Given the description of an element on the screen output the (x, y) to click on. 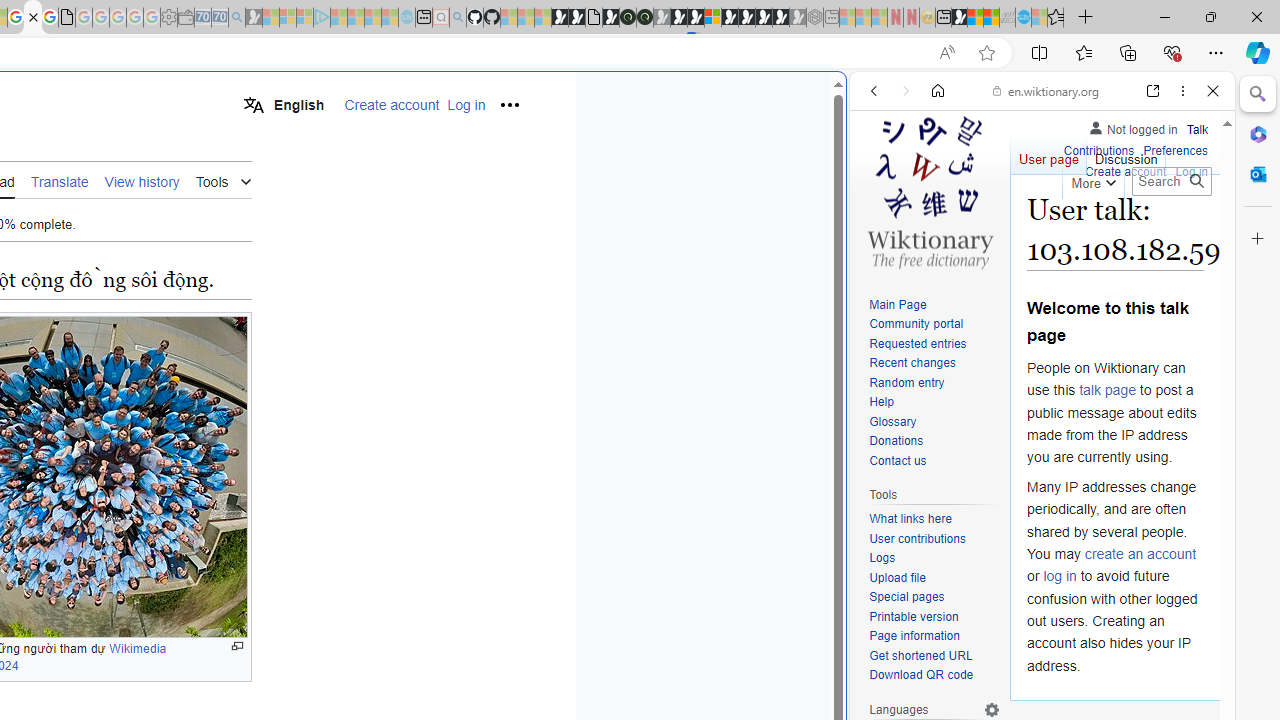
Translate (59, 180)
Search Wiktionary (1171, 181)
Contact us (897, 460)
Special pages (906, 596)
Discussion (1125, 154)
Get shortened URL (934, 655)
Special pages (934, 597)
Log in (1191, 169)
Get shortened URL (920, 655)
